Given the description of an element on the screen output the (x, y) to click on. 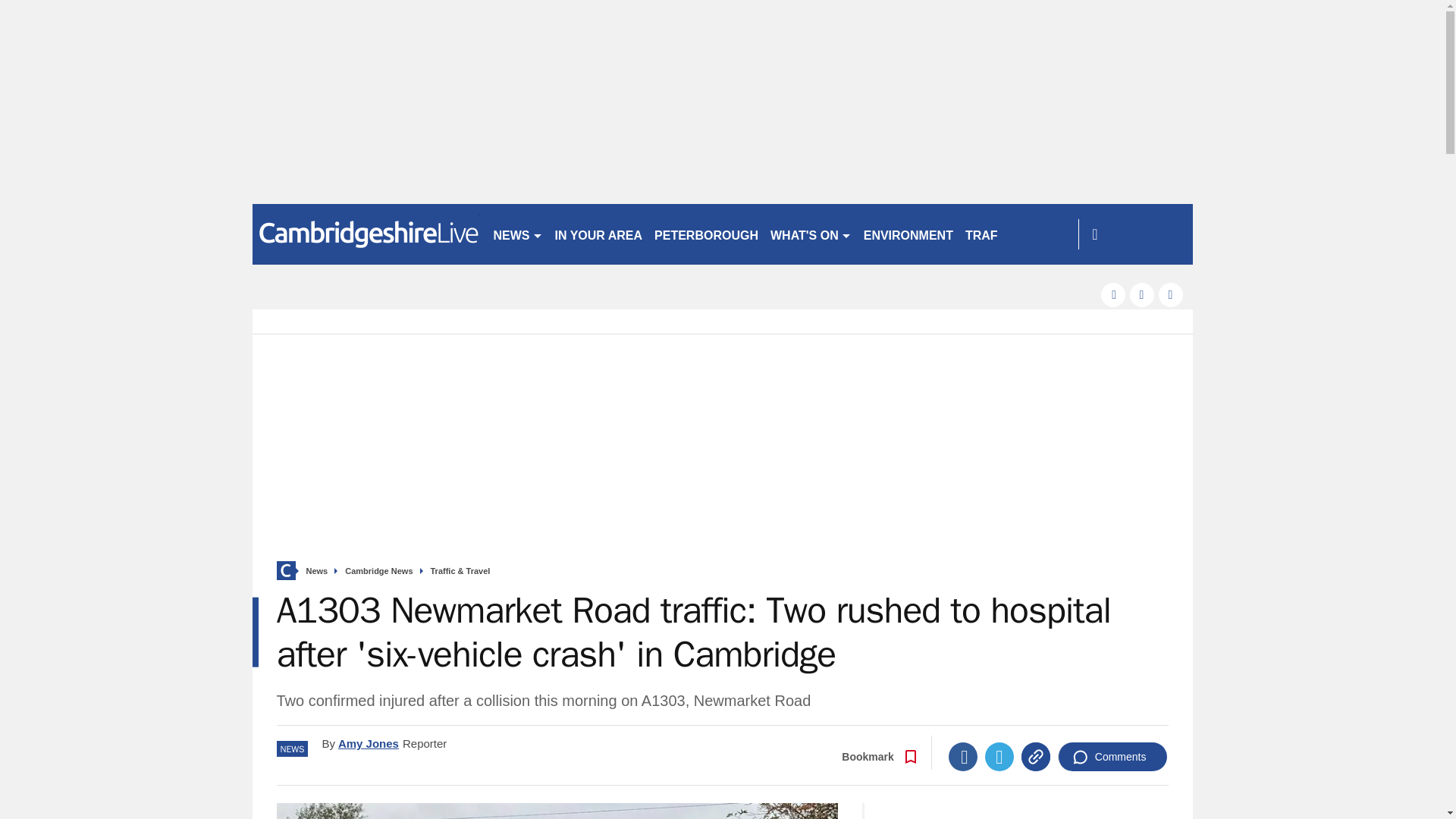
NEWS (517, 233)
facebook (1112, 294)
Twitter (999, 756)
Facebook (962, 756)
Comments (1112, 756)
instagram (1170, 294)
IN YOUR AREA (598, 233)
WHAT'S ON (810, 233)
twitter (1141, 294)
PETERBOROUGH (705, 233)
